Given the description of an element on the screen output the (x, y) to click on. 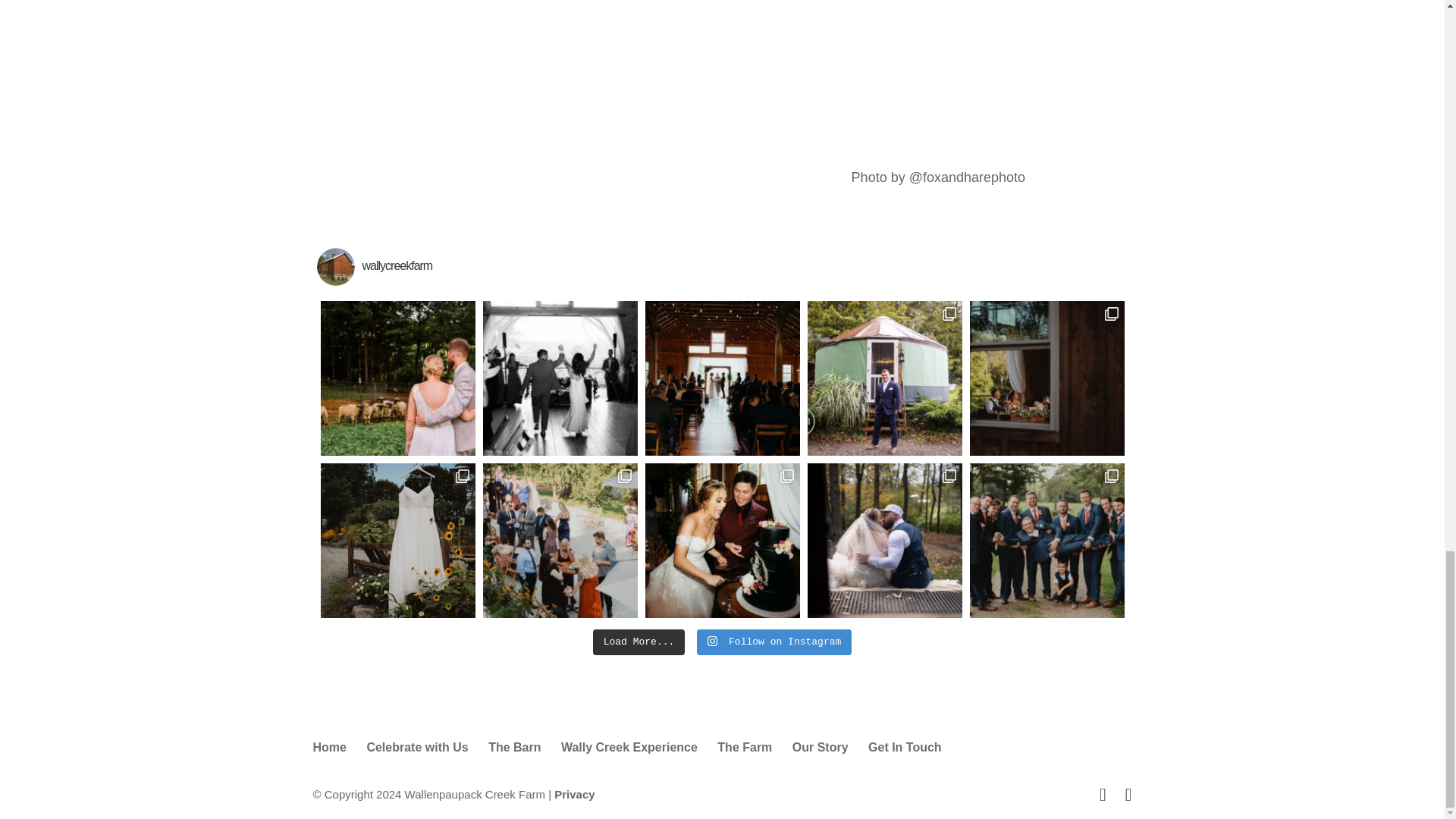
wallycreekfarm (722, 266)
